Given the description of an element on the screen output the (x, y) to click on. 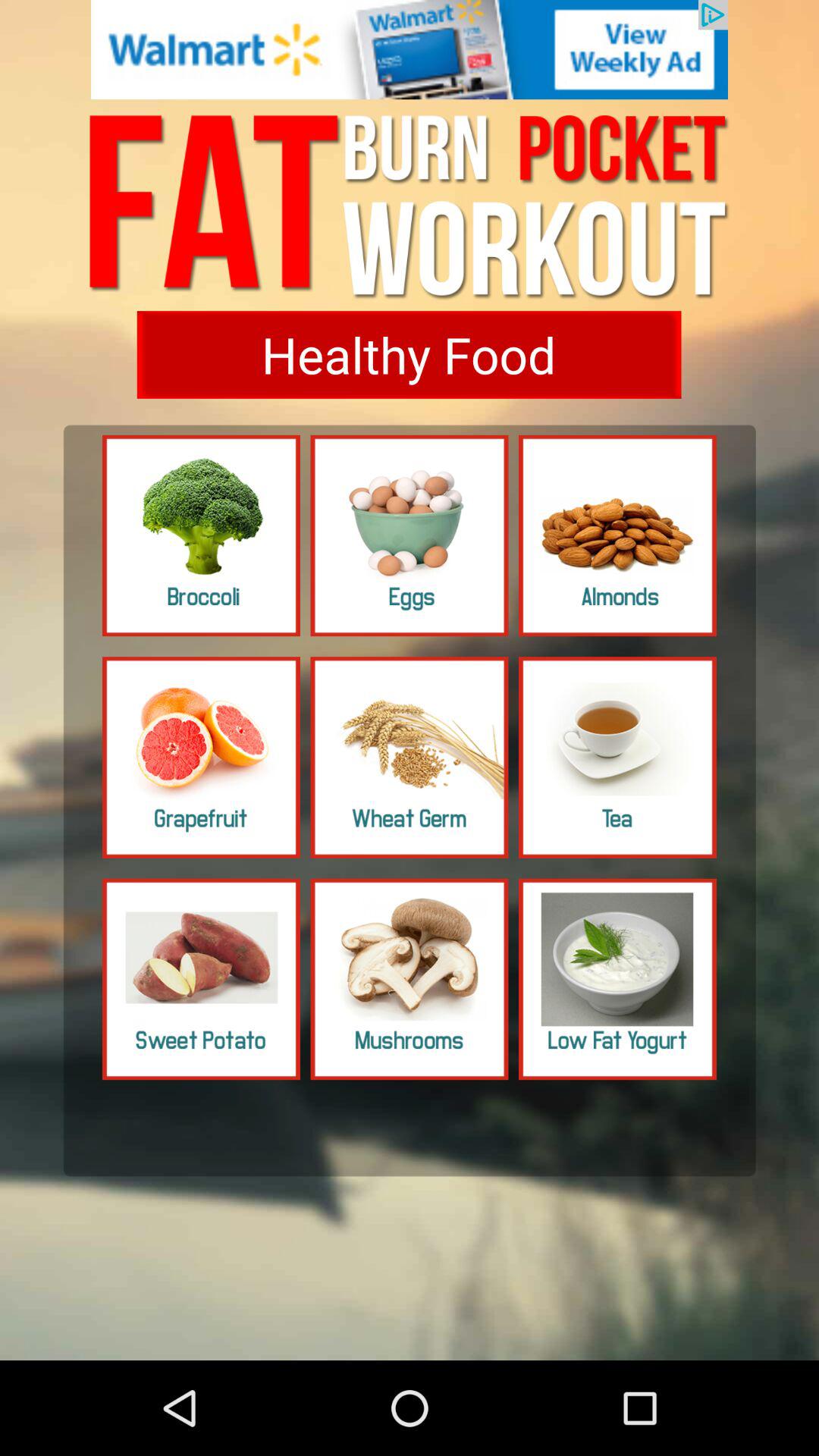
select button (409, 354)
